Given the description of an element on the screen output the (x, y) to click on. 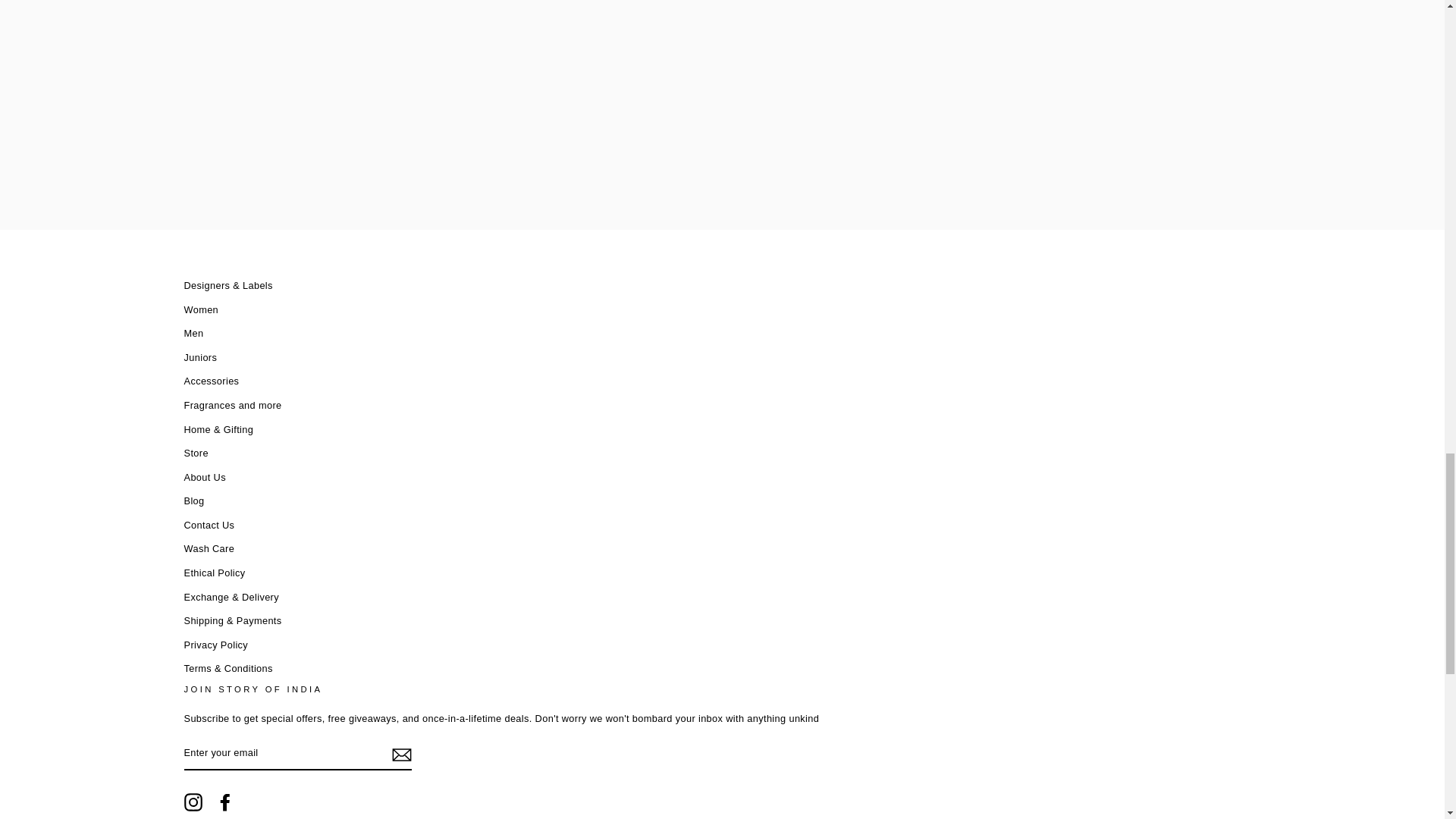
Story Of India on Facebook (224, 802)
Story Of India on Instagram (192, 802)
